Given the description of an element on the screen output the (x, y) to click on. 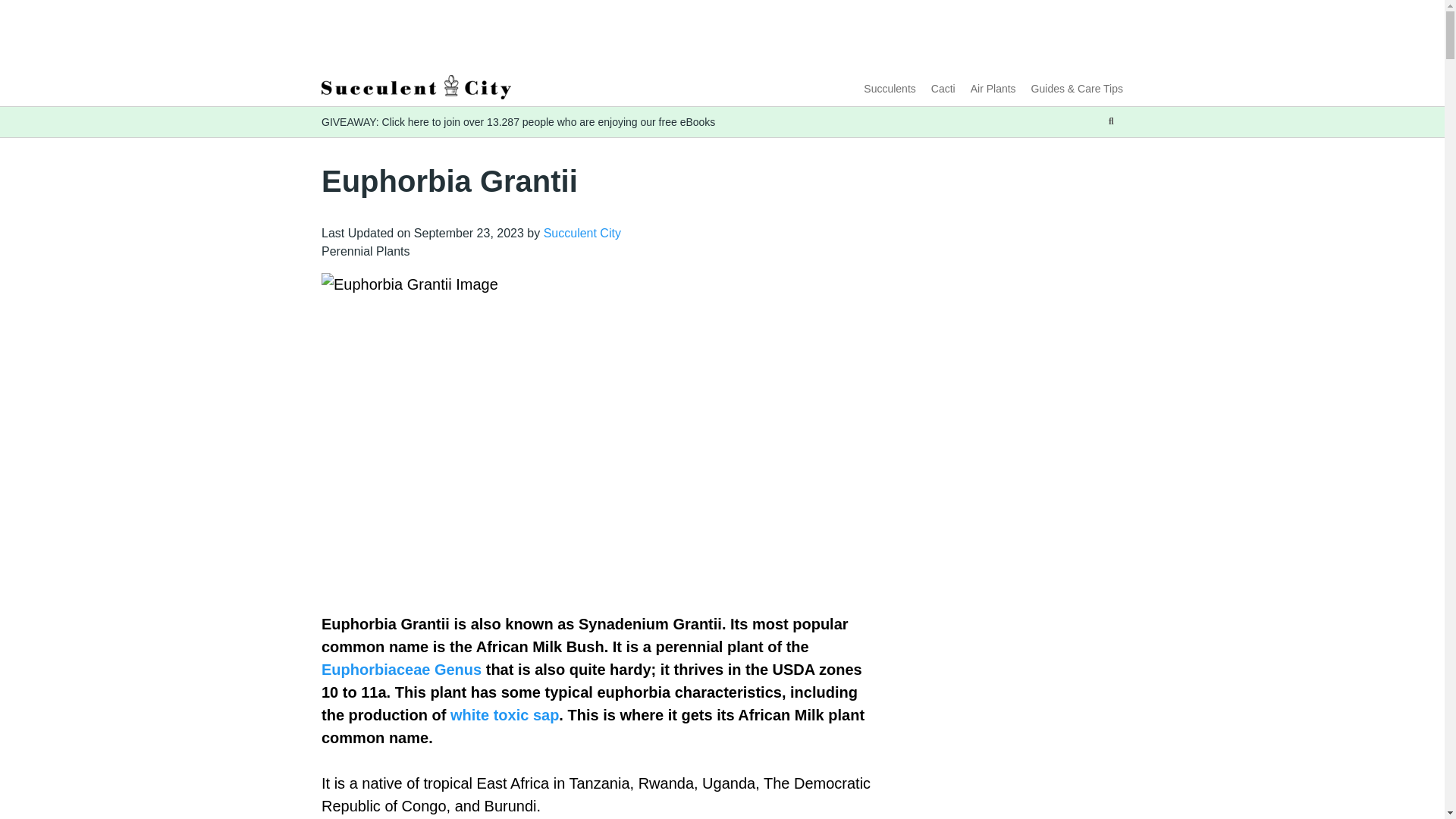
Succulents (889, 89)
Succulent City (582, 232)
Cacti (943, 89)
white toxic sap (504, 714)
Euphorbiaceae Genus (401, 669)
Air Plants (993, 89)
